Given the description of an element on the screen output the (x, y) to click on. 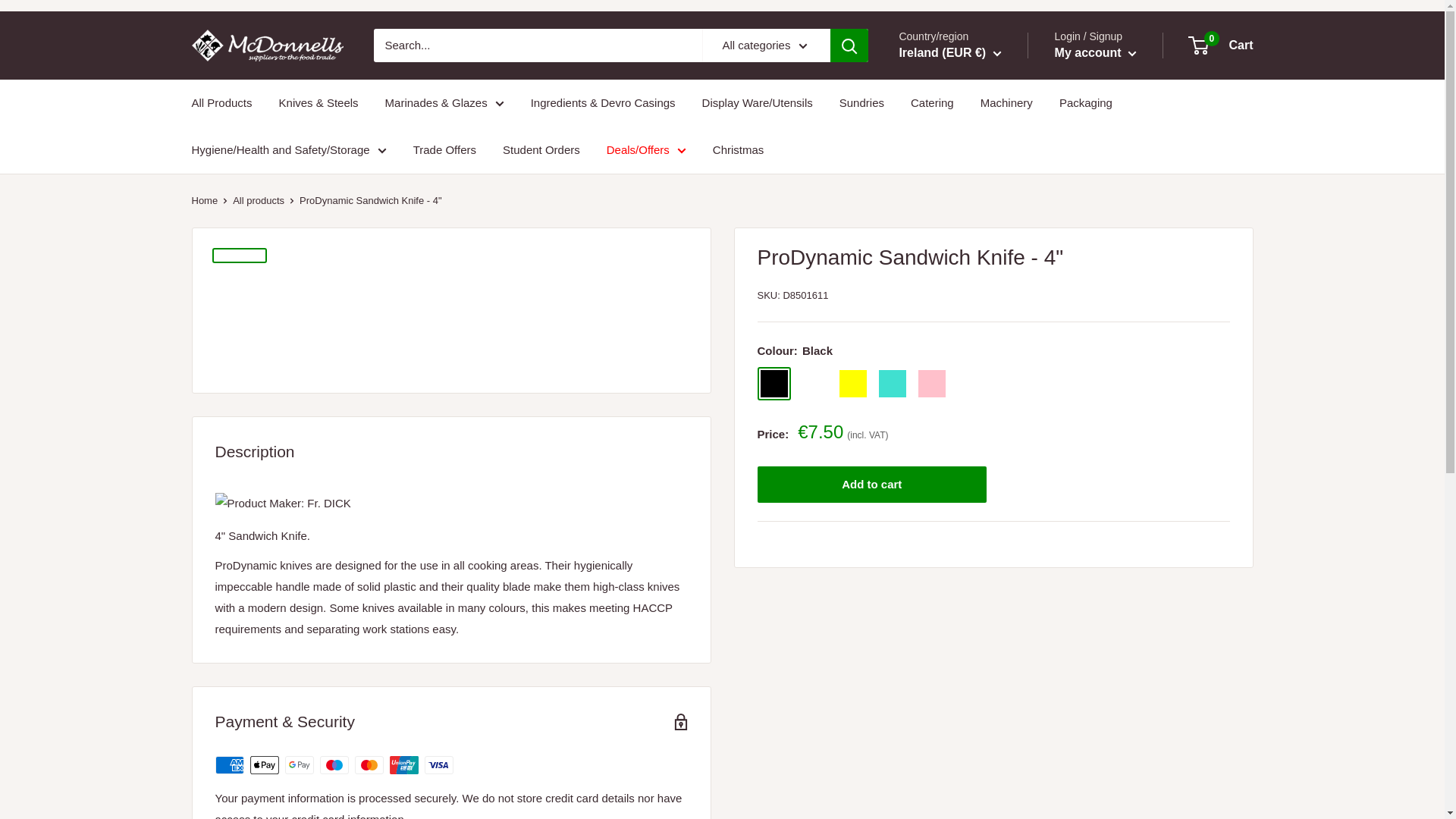
AL (917, 123)
Turquoise (891, 383)
AX (917, 102)
AD (917, 145)
Pink (930, 383)
Yellow (852, 383)
Black (773, 383)
Apple Green (813, 383)
AM (917, 167)
McDonnell's Suppliers (266, 45)
